Given the description of an element on the screen output the (x, y) to click on. 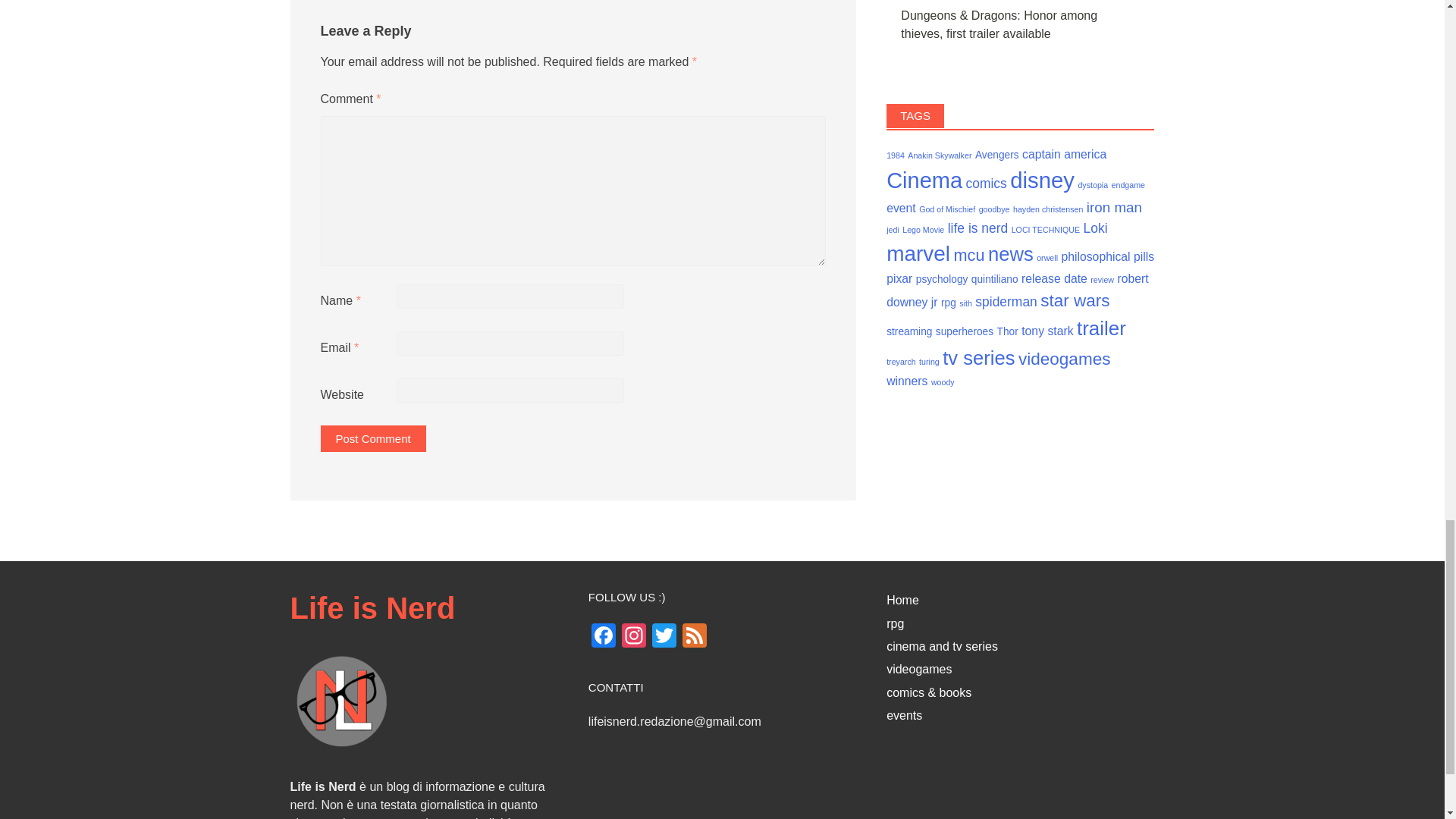
Post Comment (372, 438)
